Given the description of an element on the screen output the (x, y) to click on. 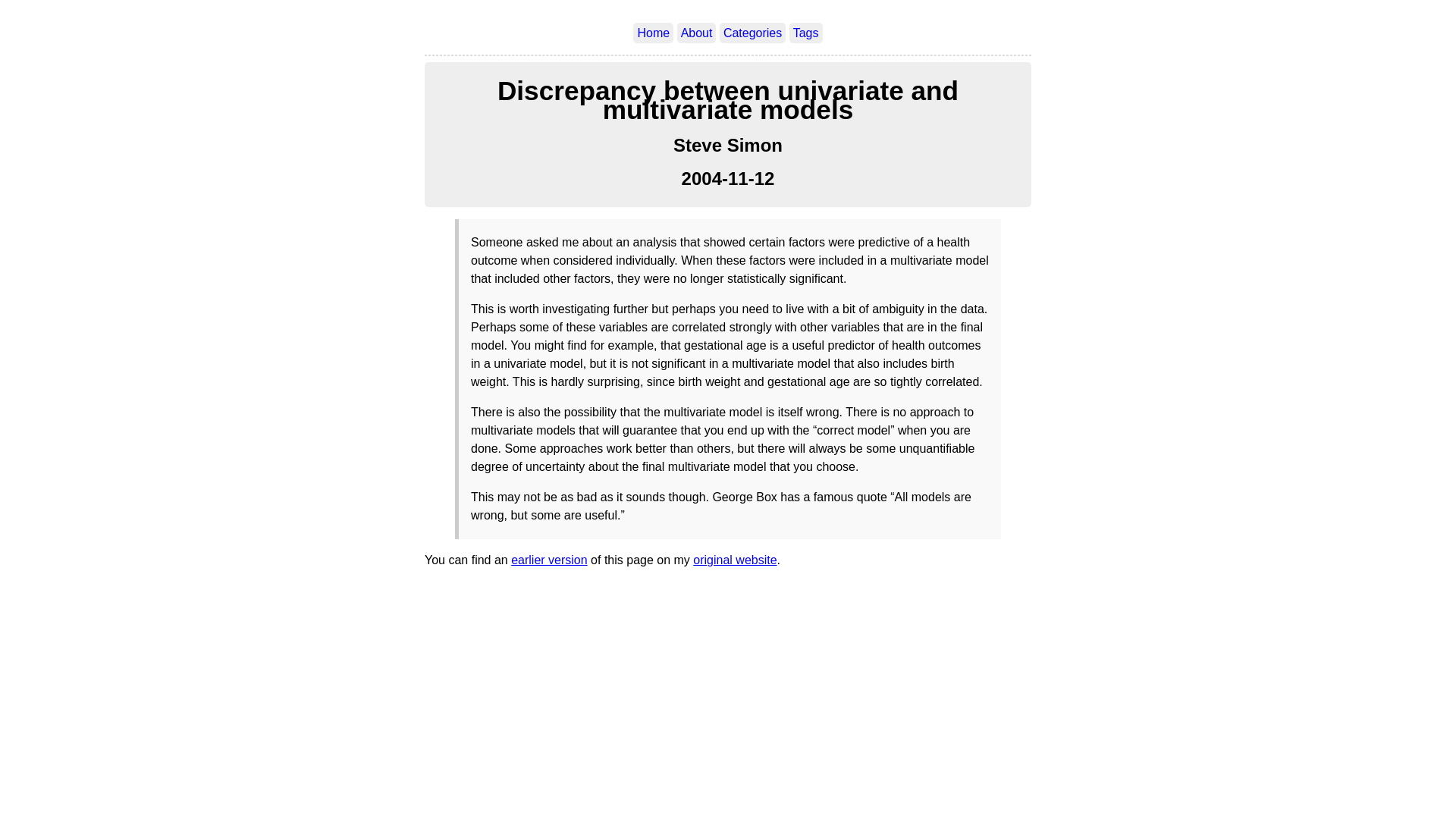
earlier version (548, 559)
